Given the description of an element on the screen output the (x, y) to click on. 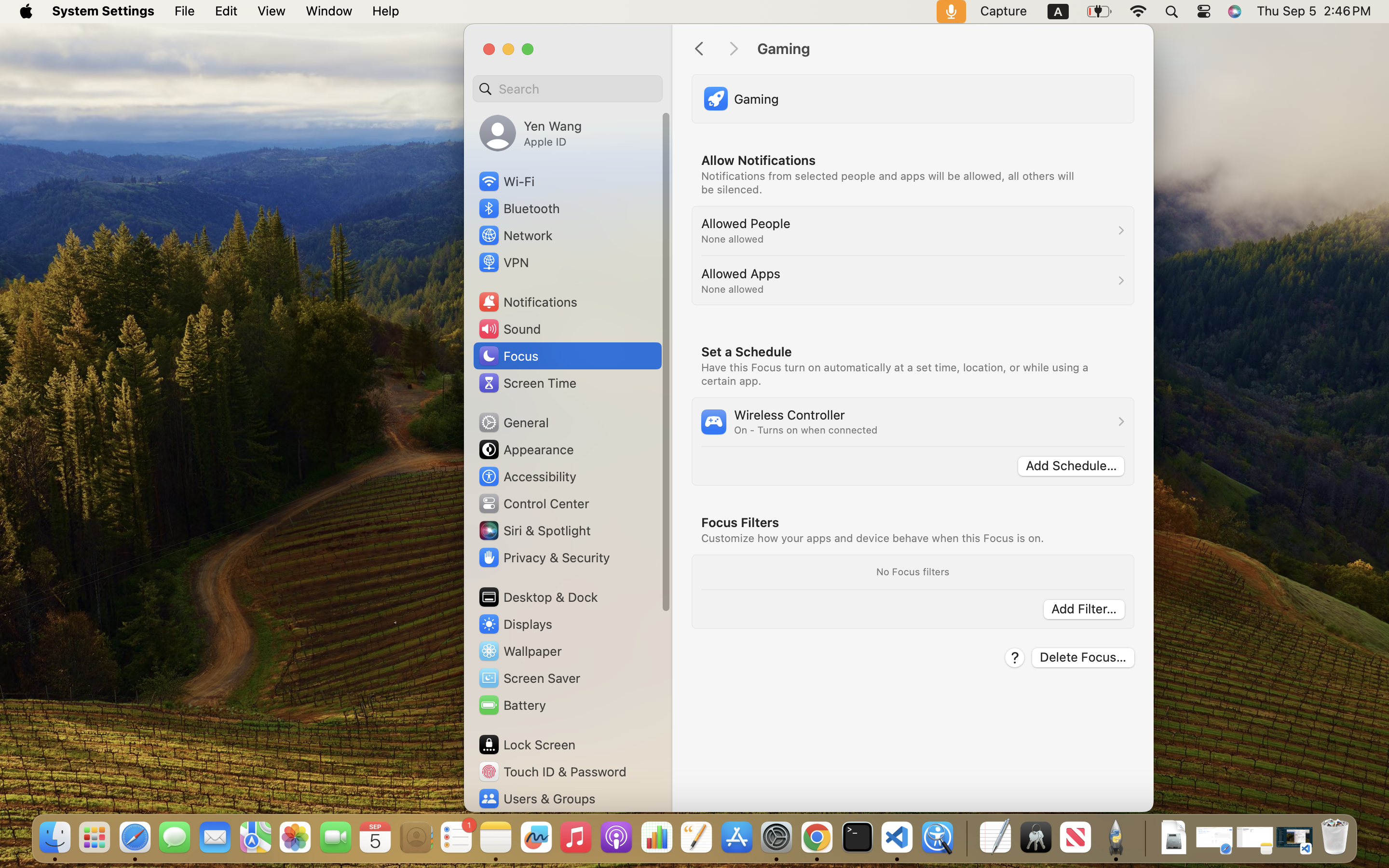
Control Center Element type: AXStaticText (533, 503)
